Given the description of an element on the screen output the (x, y) to click on. 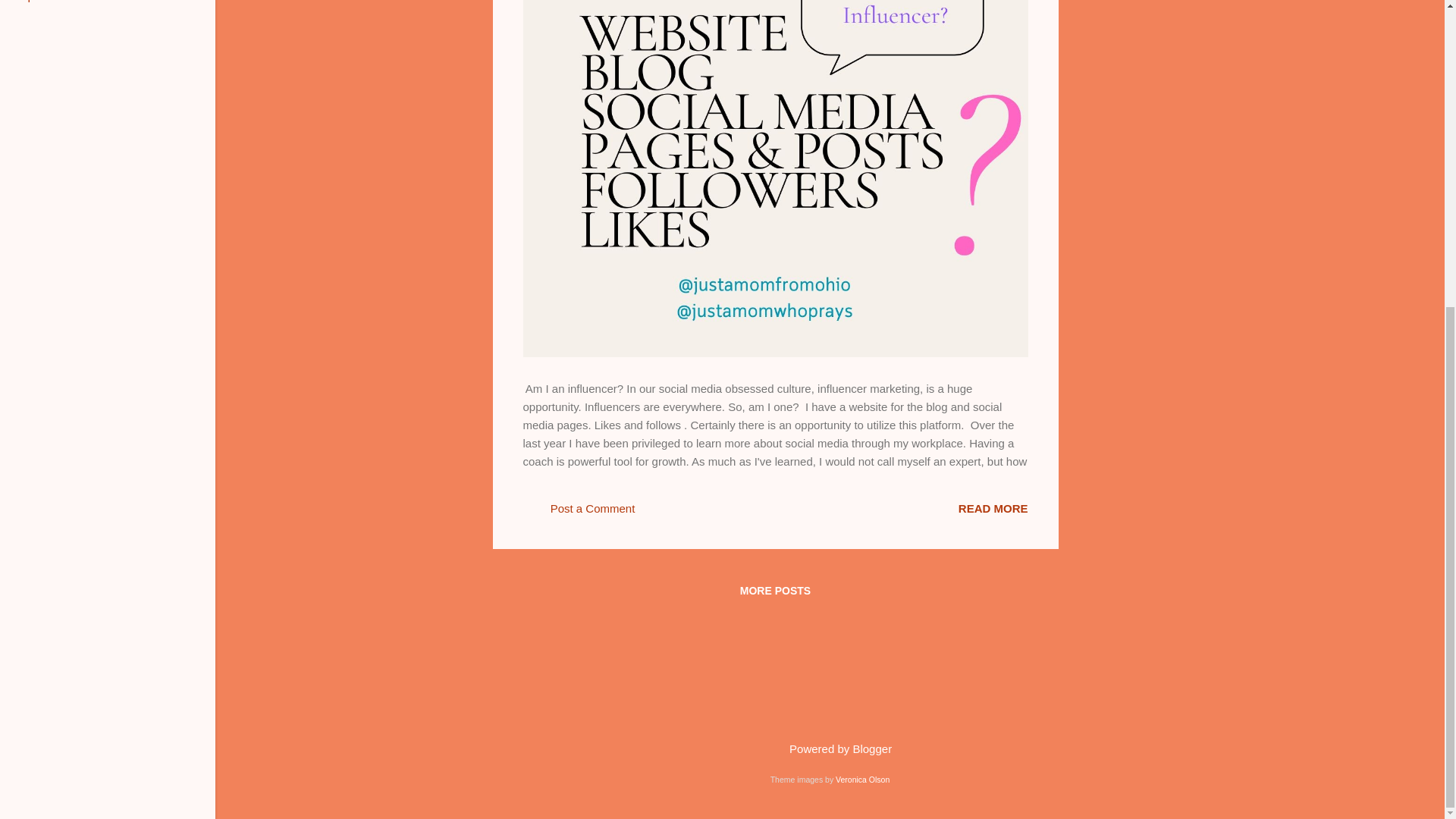
Veronica Olson (862, 778)
More posts (774, 590)
MORE POSTS (774, 590)
READ MORE (992, 508)
Post a Comment (578, 513)
Advertisement (1118, 124)
Advertisement (1118, 488)
Powered by Blogger (829, 748)
Influencer  (992, 508)
